Given the description of an element on the screen output the (x, y) to click on. 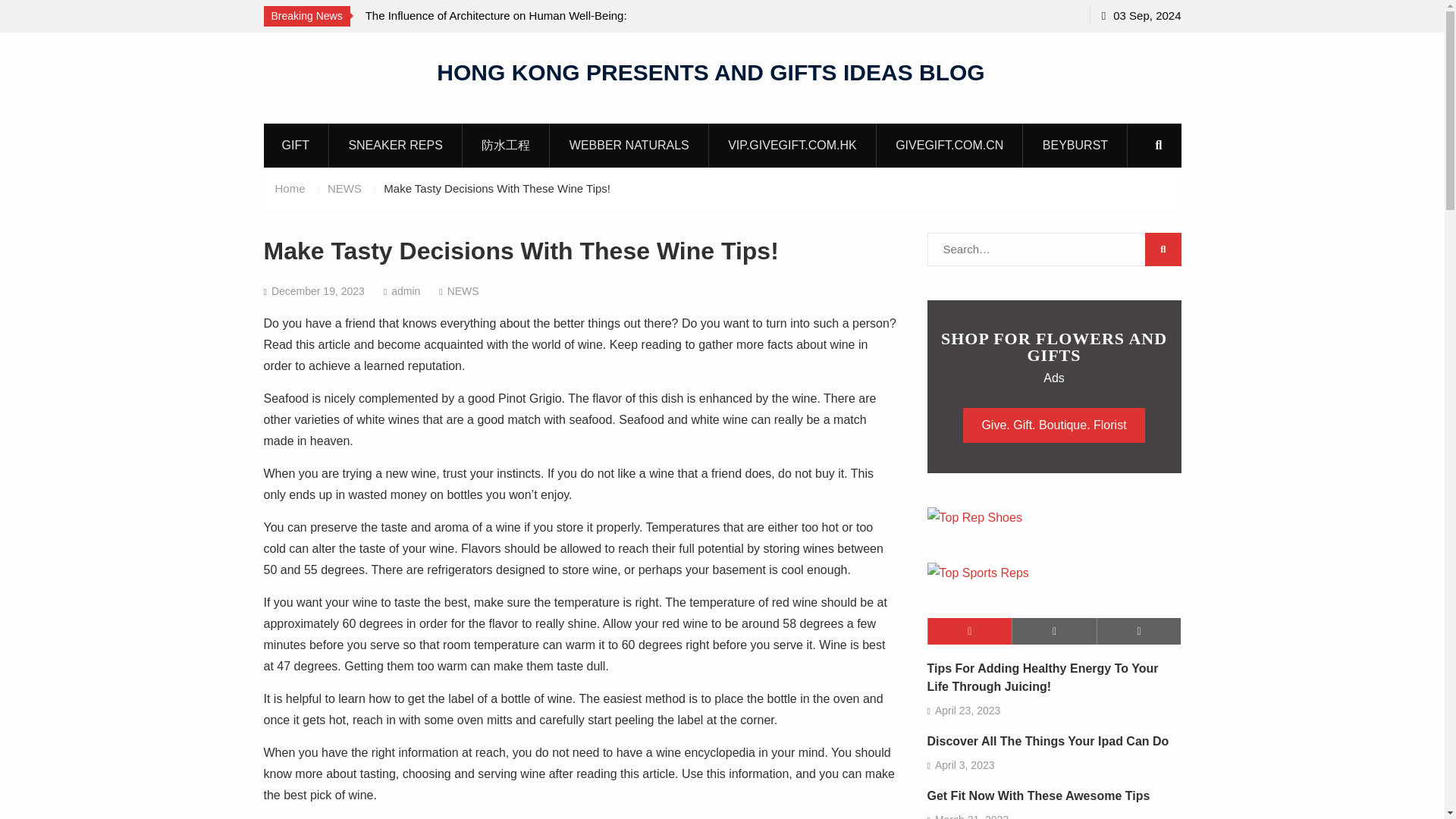
VIP.GIVEGIFT.COM.HK (792, 144)
Home (289, 187)
December 19, 2023 (317, 291)
SNEAKER REPS (395, 144)
GIFT (295, 144)
HONG KONG PRESENTS AND GIFTS IDEAS BLOG (710, 71)
admin (405, 291)
NEWS (344, 187)
WEBBER NATURALS (629, 144)
